Given the description of an element on the screen output the (x, y) to click on. 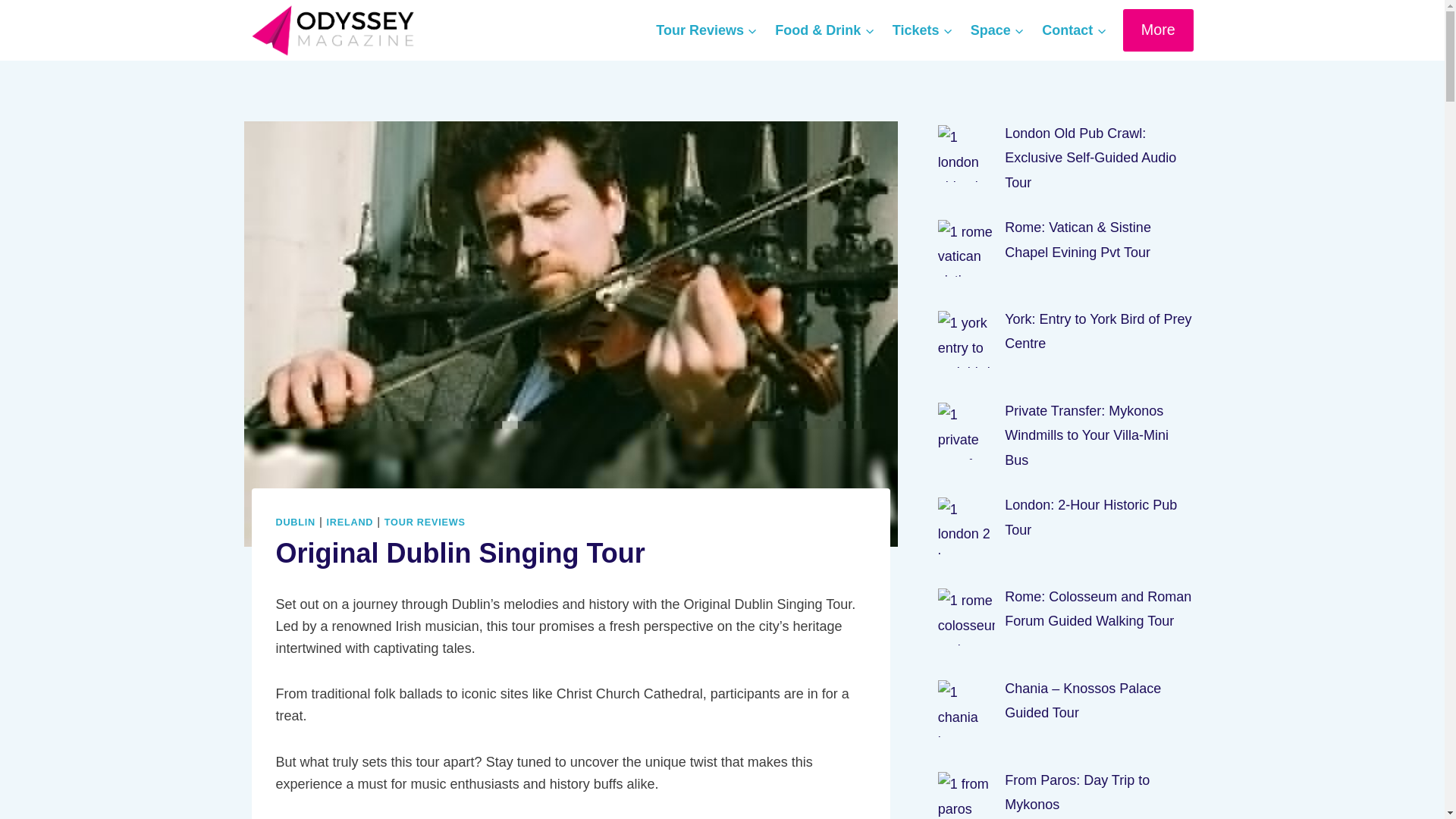
DUBLIN (295, 521)
Tour Reviews (707, 30)
Contact (1074, 30)
TOUR REVIEWS (424, 521)
Space (996, 30)
IRELAND (350, 521)
Tickets (921, 30)
More (1157, 29)
